Given the description of an element on the screen output the (x, y) to click on. 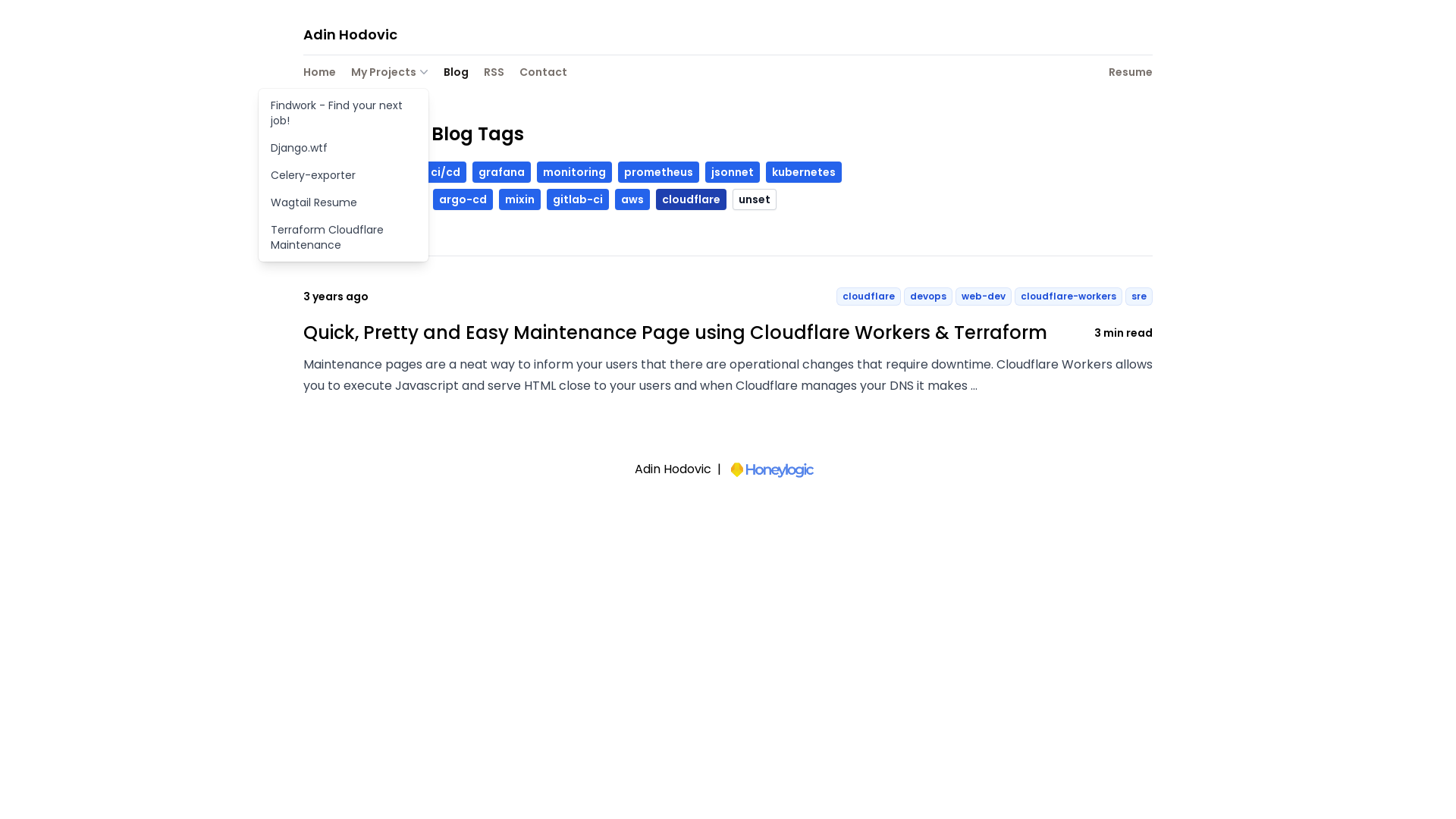
argo-cd Element type: text (462, 199)
mixin Element type: text (519, 199)
unset Element type: text (754, 199)
kubernetes Element type: text (803, 171)
Adin Hodovic
| Element type: text (727, 469)
Celery-exporter Element type: text (343, 174)
gitlab-ci Element type: text (577, 199)
RSS Element type: text (493, 73)
monitoring Element type: text (573, 171)
grafana Element type: text (501, 171)
cloudflare Element type: text (690, 199)
celery Element type: text (329, 199)
prometheus Element type: text (658, 171)
django Element type: text (392, 171)
Wagtail Resume Element type: text (343, 202)
My Projects Element type: text (389, 71)
Findwork - Find your next job! Element type: text (343, 112)
Blog Element type: text (455, 73)
Django.wtf Element type: text (343, 147)
jsonnet Element type: text (732, 171)
Contact Element type: text (543, 73)
ci/cd Element type: text (445, 171)
Resume Element type: text (1130, 73)
Terraform Cloudflare Maintenance Element type: text (343, 237)
Home Element type: text (319, 73)
terraform Element type: text (392, 199)
devops Element type: text (333, 171)
aws Element type: text (632, 199)
